Given the description of an element on the screen output the (x, y) to click on. 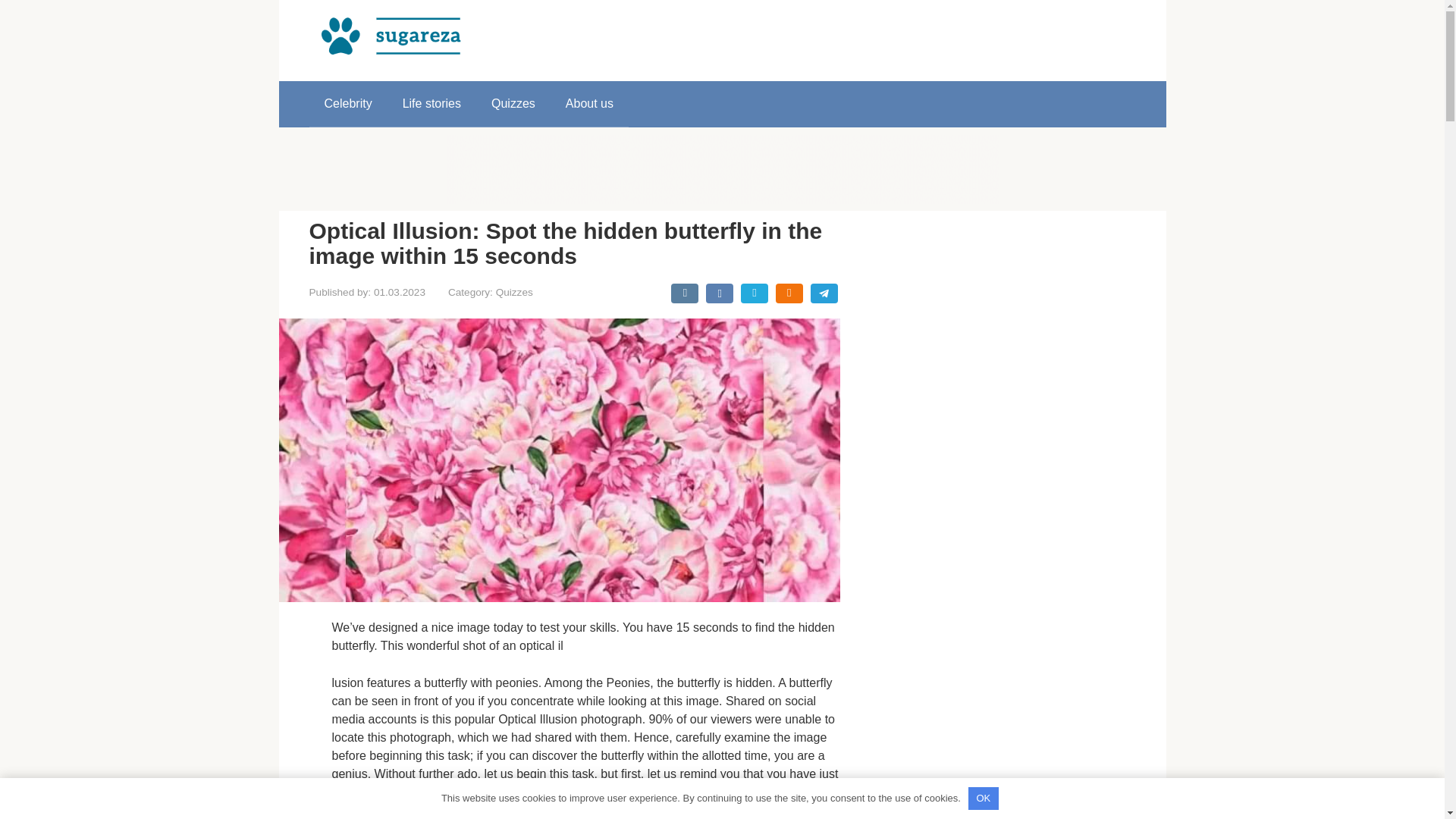
Quizzes (513, 103)
Quizzes (514, 292)
3rd party ad content (721, 169)
About us (589, 103)
Celebrity (347, 103)
Life stories (431, 103)
